Given the description of an element on the screen output the (x, y) to click on. 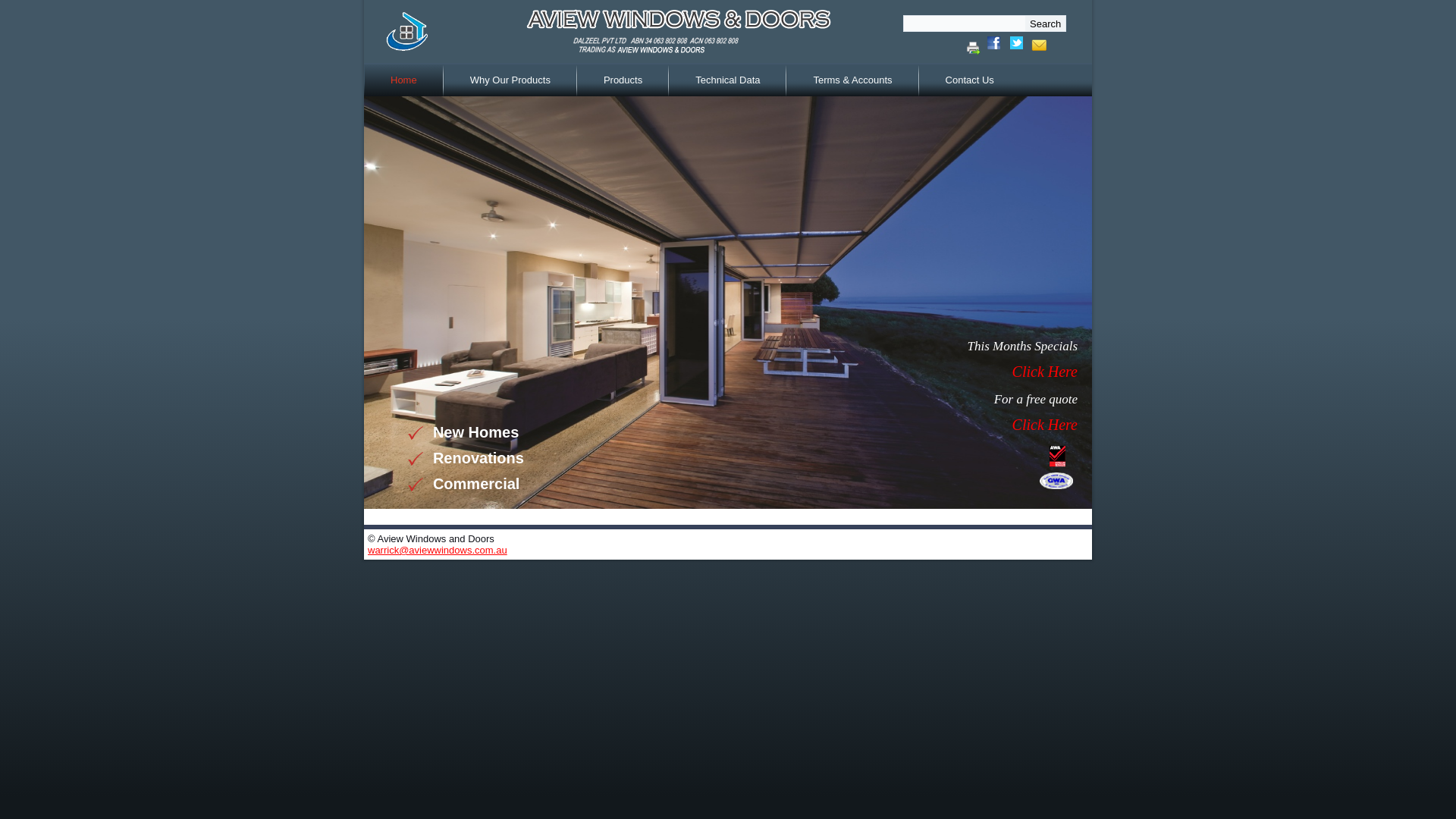
Click Here Element type: text (1044, 424)
Terms & Accounts Element type: text (852, 80)
Why Our Products Element type: text (510, 80)
Products Element type: text (622, 80)
warrick@aviewwindows.com.au Element type: text (437, 549)
Home Element type: text (403, 80)
Technical Data Element type: text (727, 80)
Contact Us Element type: text (969, 80)
Search Element type: text (1045, 23)
Click Here Element type: text (1044, 371)
